Given the description of an element on the screen output the (x, y) to click on. 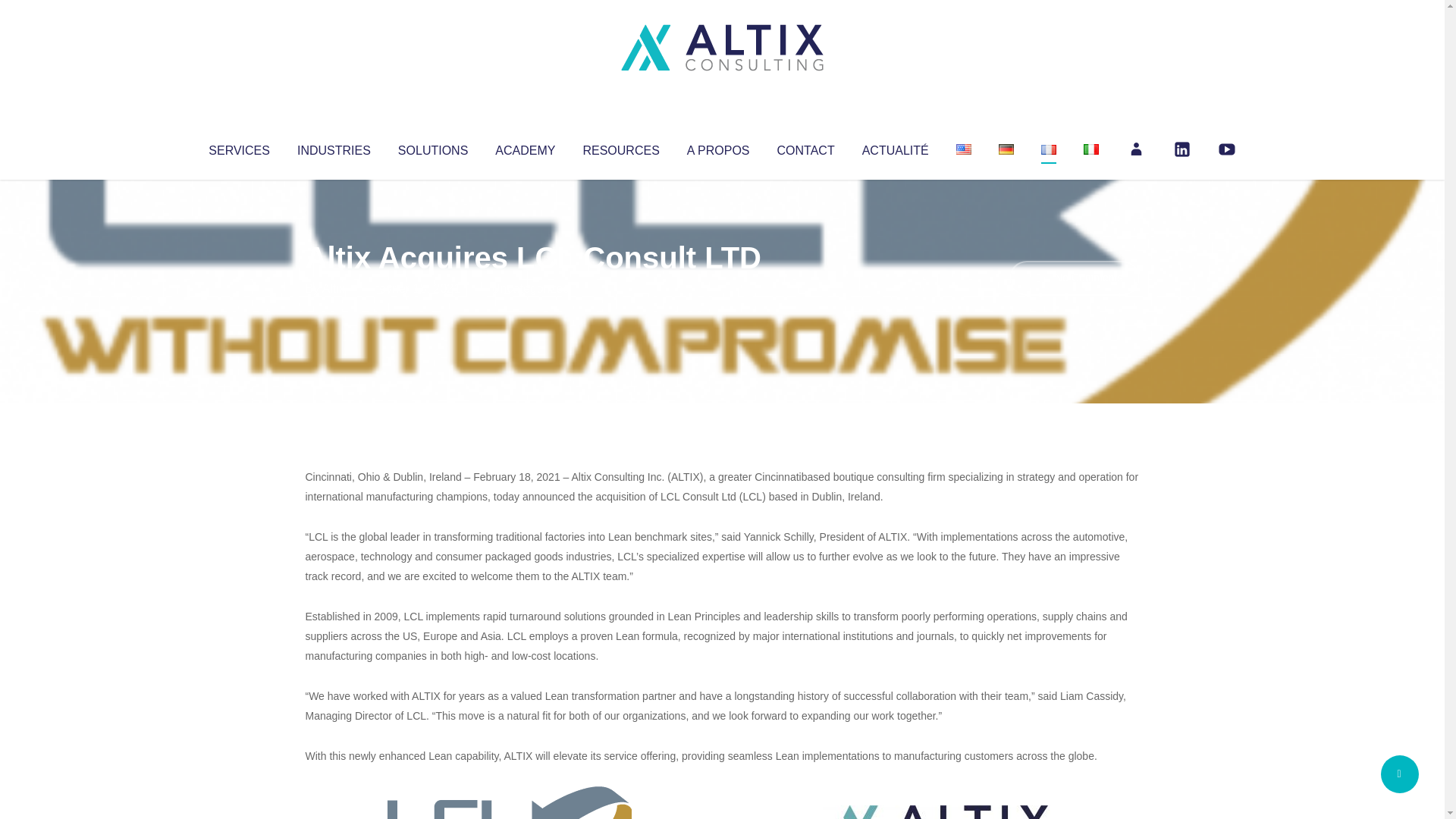
A PROPOS (718, 146)
Altix (333, 287)
Uncategorized (530, 287)
SOLUTIONS (432, 146)
ACADEMY (524, 146)
INDUSTRIES (334, 146)
RESOURCES (620, 146)
Articles par Altix (333, 287)
No Comments (1073, 278)
SERVICES (238, 146)
